Given the description of an element on the screen output the (x, y) to click on. 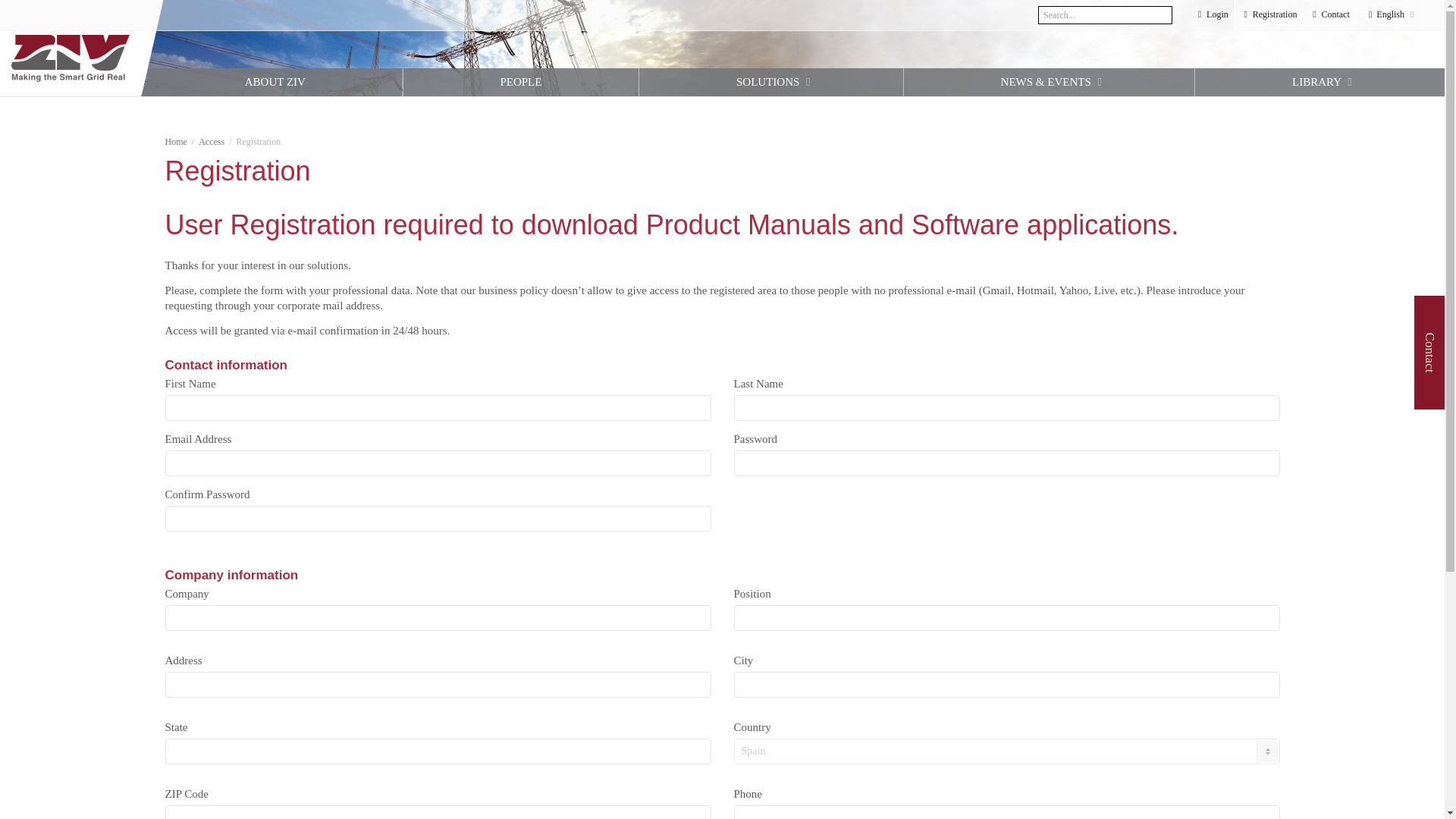
ZIV (70, 58)
Contact (1329, 15)
LIBRARY (1318, 81)
Contact (1329, 15)
Login (1211, 15)
ABOUT ZIV (272, 81)
Access (211, 141)
People (521, 81)
SOLUTIONS (770, 81)
Login (1211, 15)
Registration (1269, 15)
Home (176, 141)
Solutions (770, 81)
About ZIV (272, 81)
English (1389, 15)
